Given the description of an element on the screen output the (x, y) to click on. 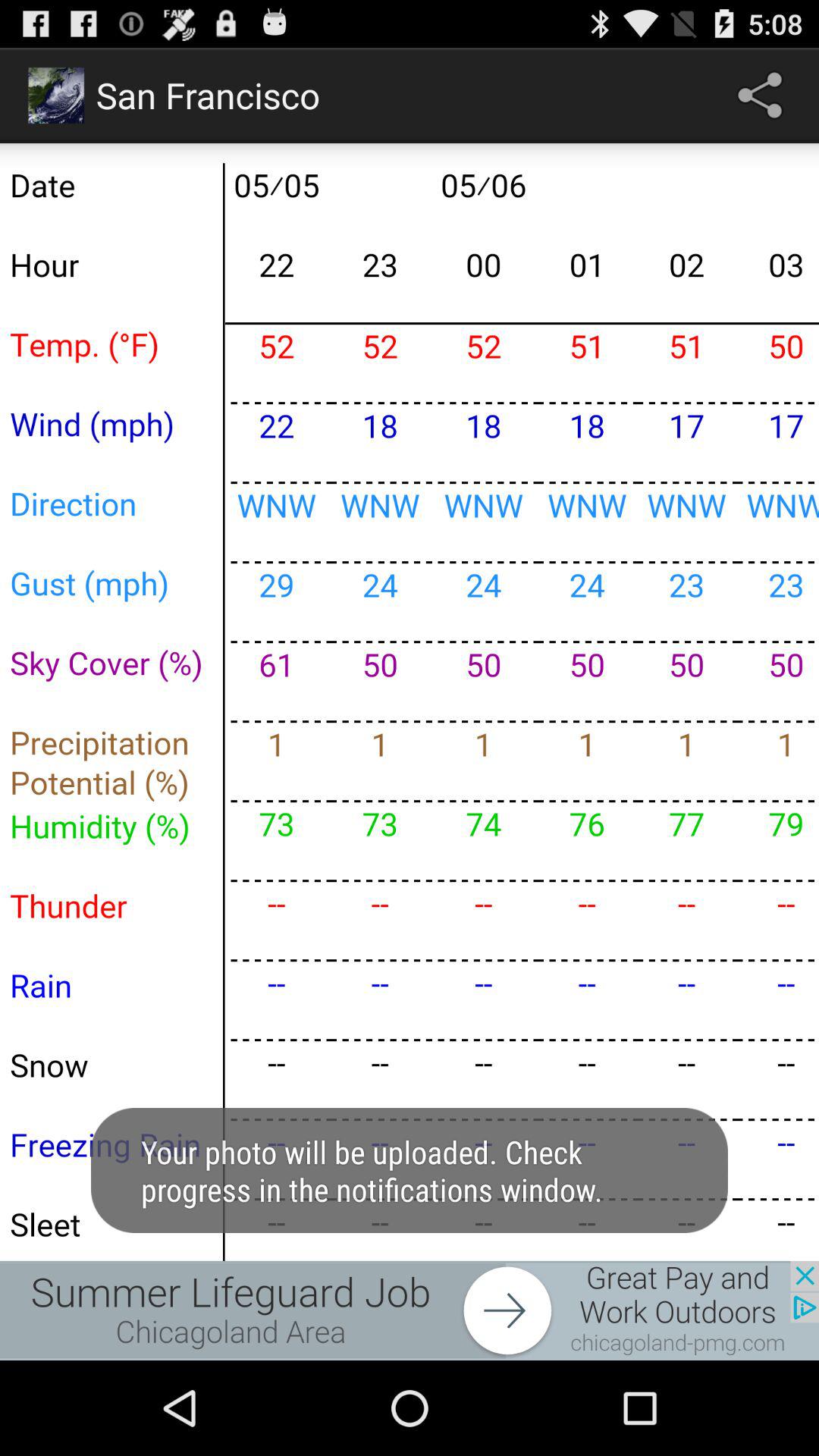
enlarge the calendar (409, 701)
